Given the description of an element on the screen output the (x, y) to click on. 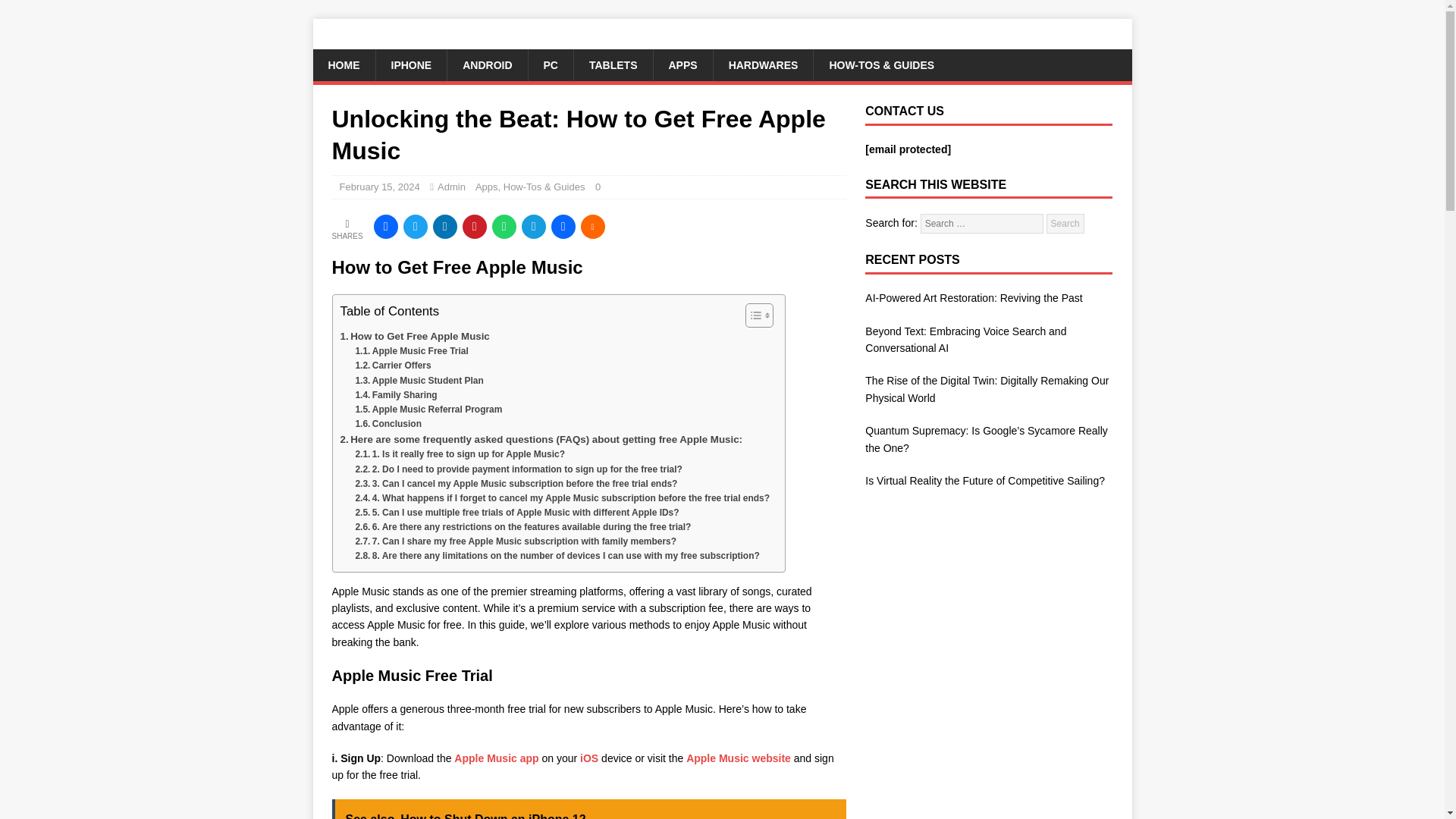
February 15, 2024 (379, 186)
Carrier Offers (392, 365)
Apple Music Free Trial (411, 350)
TABLETS (612, 65)
Apple Music Referral Program (428, 409)
HOME (343, 65)
Admin (451, 186)
How to Get Free Apple Music (414, 335)
Tweet this ! (415, 226)
